Given the description of an element on the screen output the (x, y) to click on. 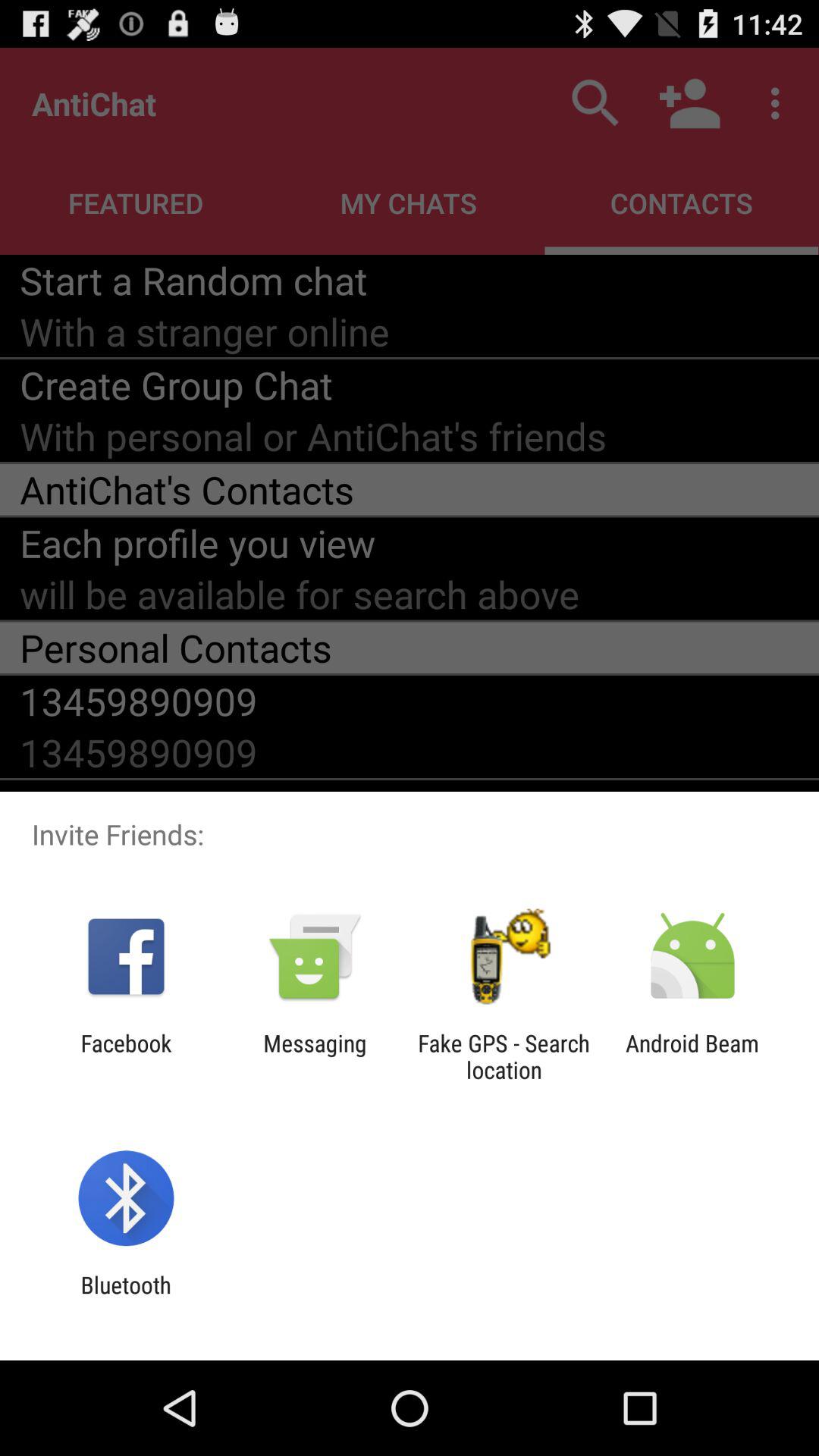
select item next to facebook (314, 1056)
